Given the description of an element on the screen output the (x, y) to click on. 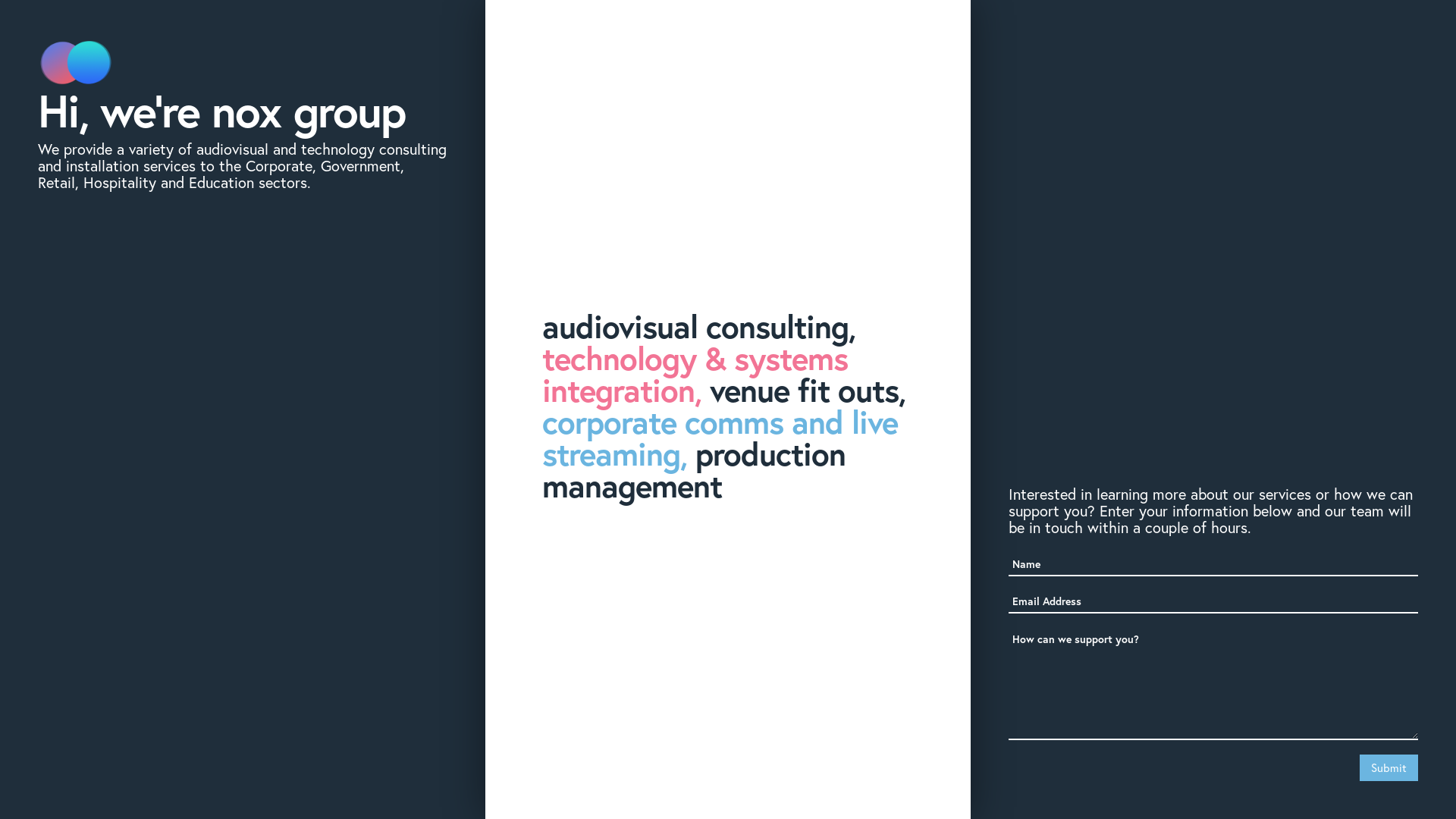
Submit Element type: text (1388, 767)
NOX_Mark Only Element type: hover (75, 62)
